Given the description of an element on the screen output the (x, y) to click on. 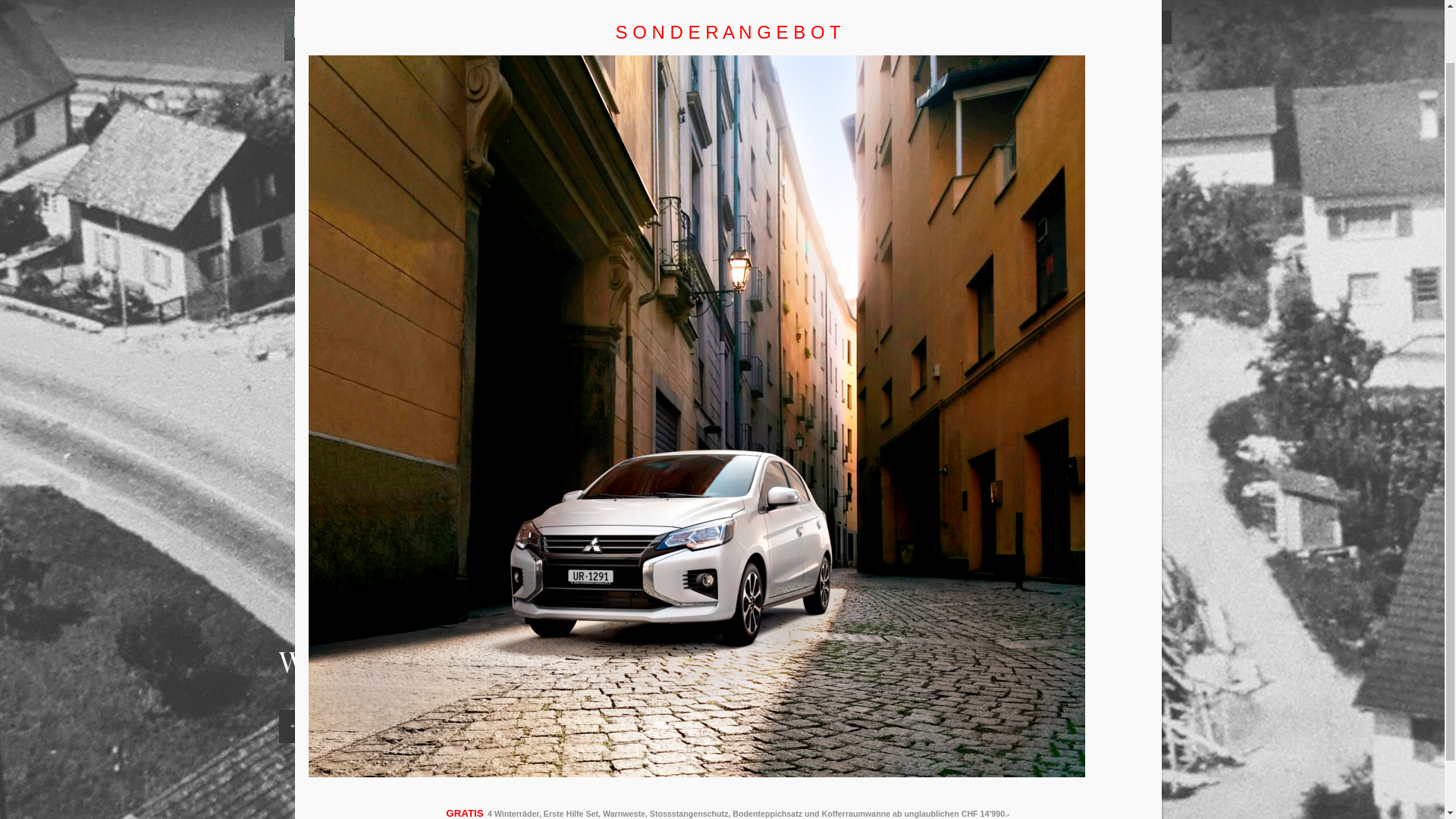
Previous Element type: text (295, 726)
HOME Element type: text (641, 23)
FAHRZEUGE Element type: text (840, 23)
Next Element type: text (340, 726)
WERKSTATT Element type: text (731, 23)
KONTAKT Element type: text (1058, 26)
